Given the description of an element on the screen output the (x, y) to click on. 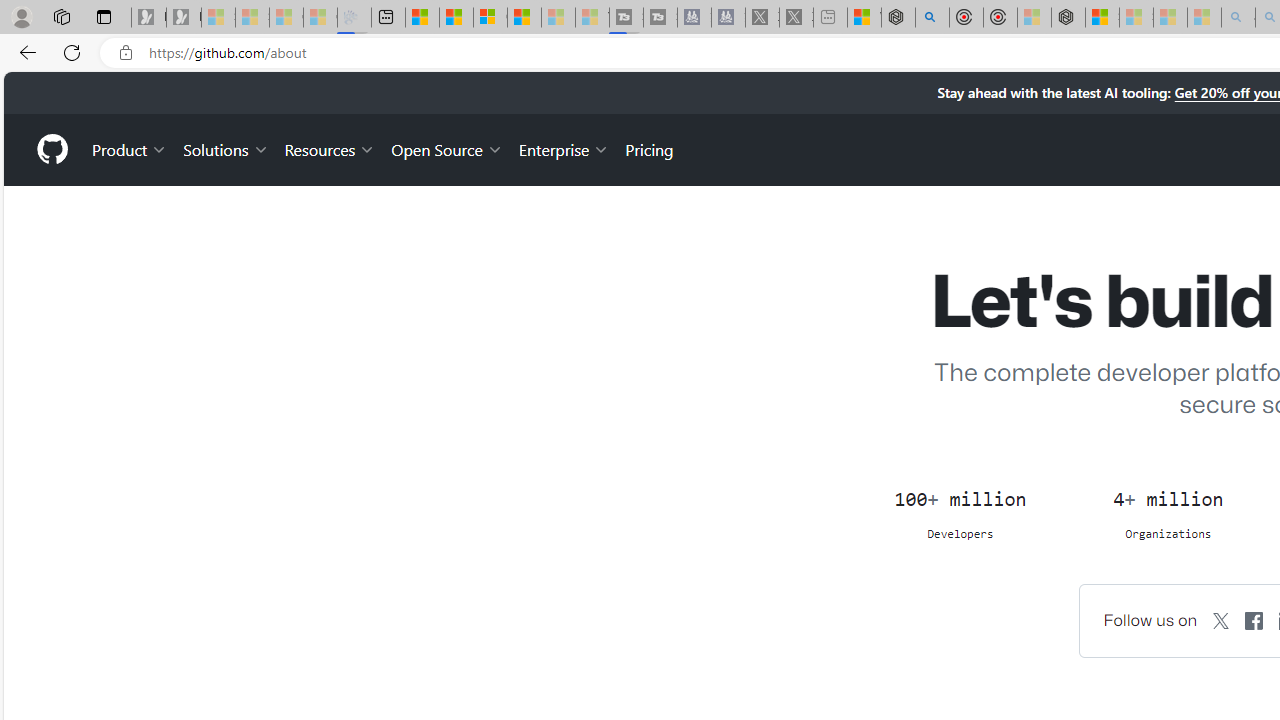
Solutions (225, 148)
Solutions (225, 148)
Open Source (446, 148)
Open Source (446, 148)
GitHub on X (1221, 620)
Resources (330, 148)
GitHub on Facebook (1254, 620)
